Given the description of an element on the screen output the (x, y) to click on. 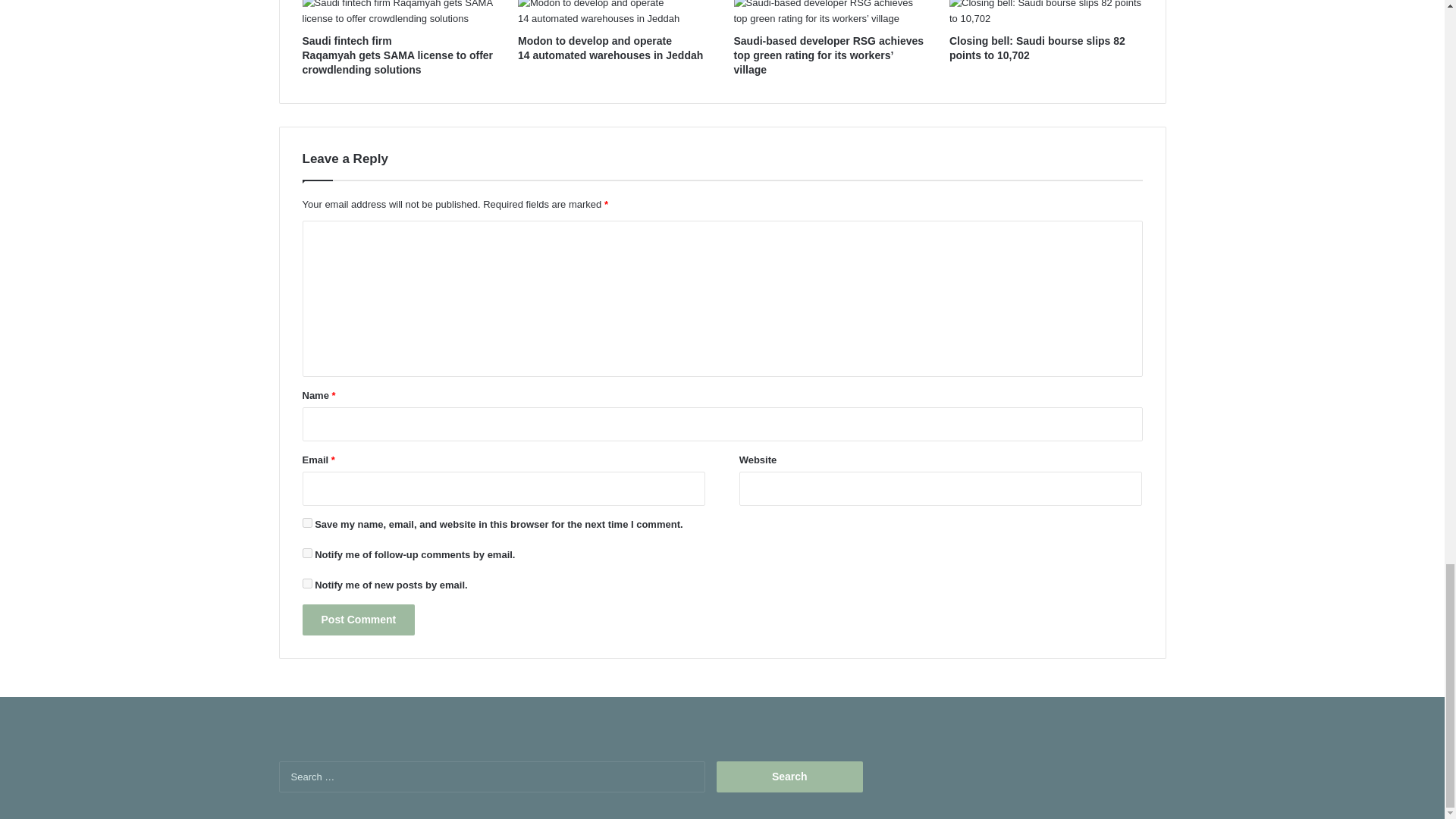
Post Comment (357, 619)
subscribe (306, 583)
subscribe (306, 552)
Search (789, 776)
yes (306, 522)
Search (789, 776)
